Given the description of an element on the screen output the (x, y) to click on. 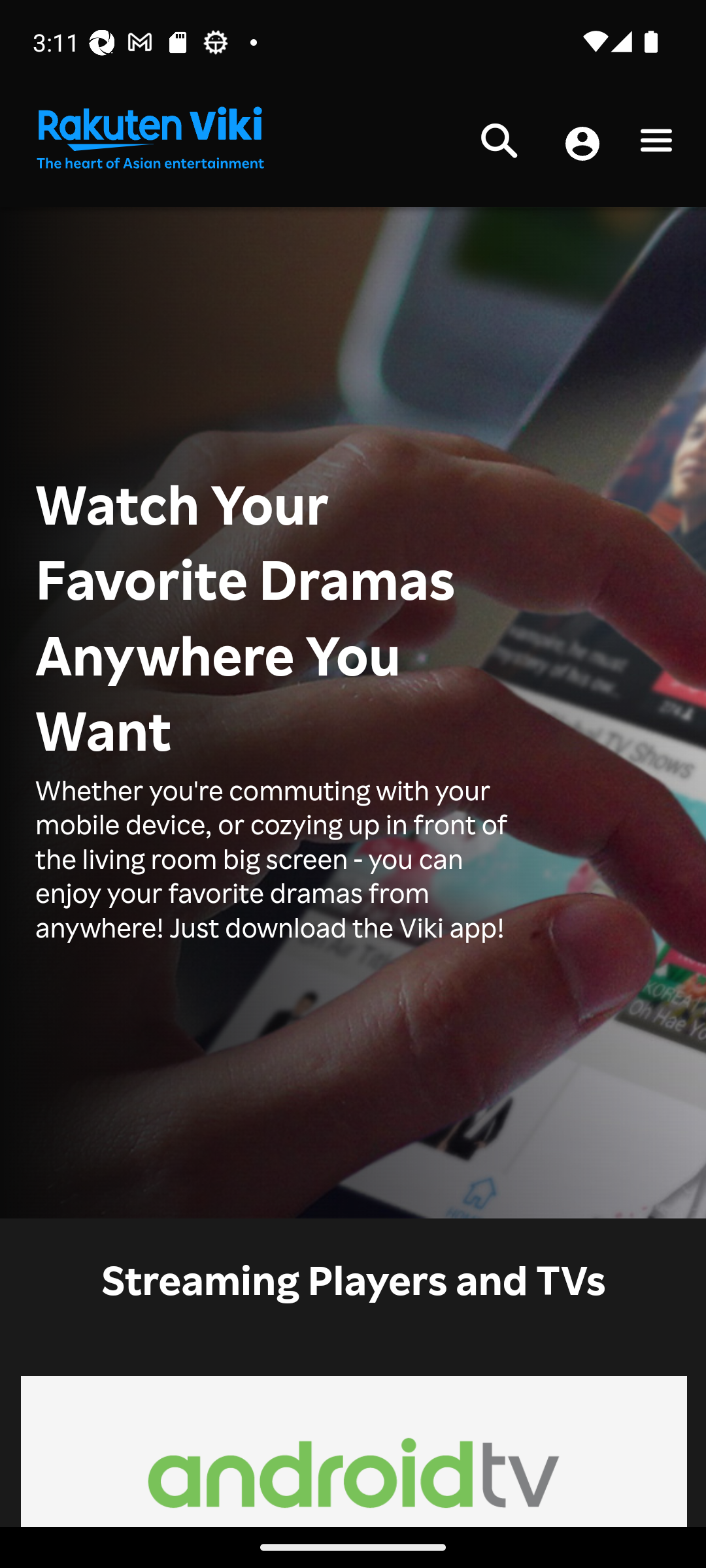
Go to homepage Rakuten Viki (149, 138)
nav.session.login (582, 144)
Settings menu (655, 143)
